Given the description of an element on the screen output the (x, y) to click on. 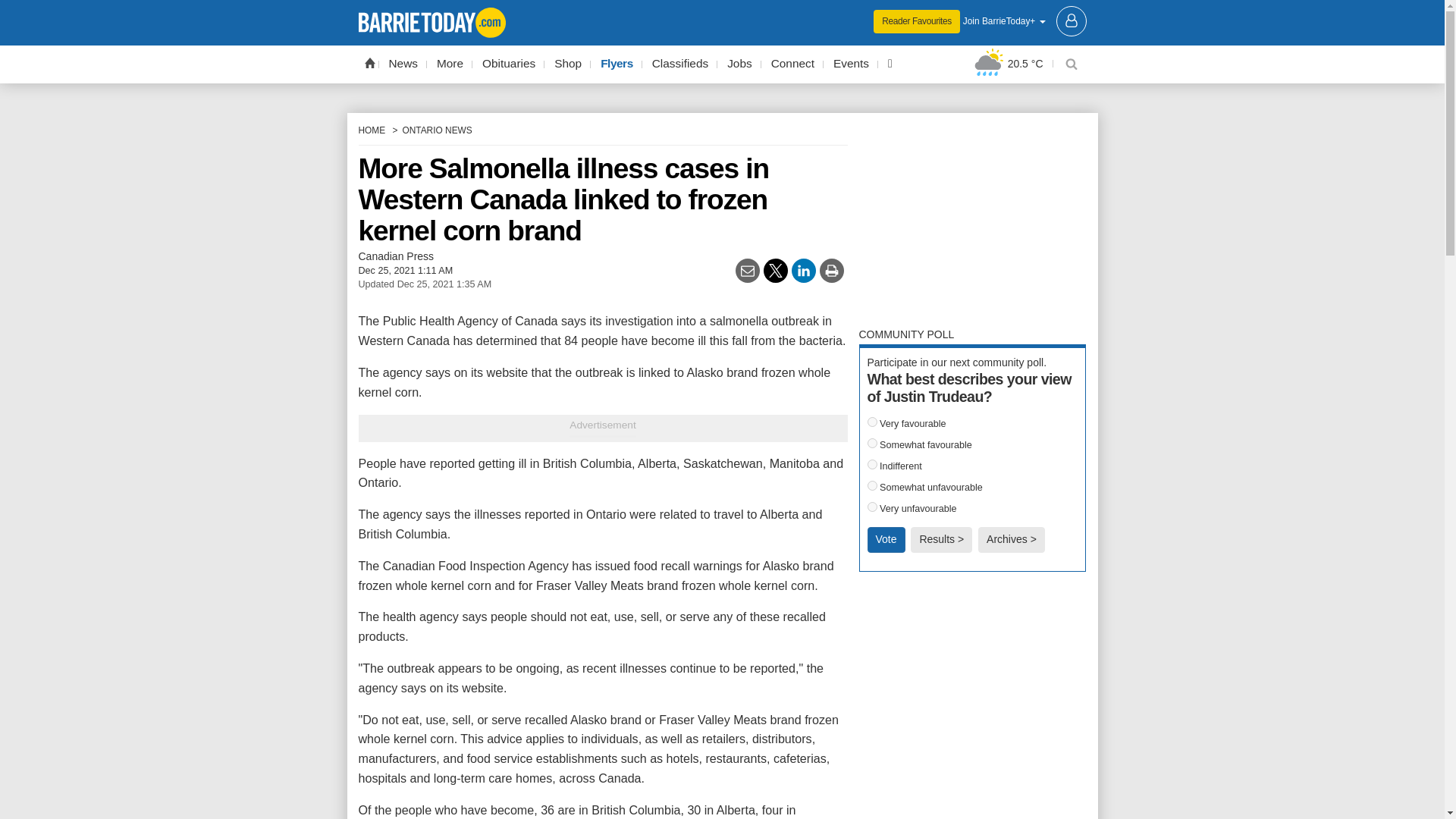
News (403, 64)
123111 (872, 421)
Reader Favourites (916, 21)
123113 (872, 464)
123112 (872, 442)
123115 (872, 506)
123114 (872, 485)
Home (368, 62)
